Given the description of an element on the screen output the (x, y) to click on. 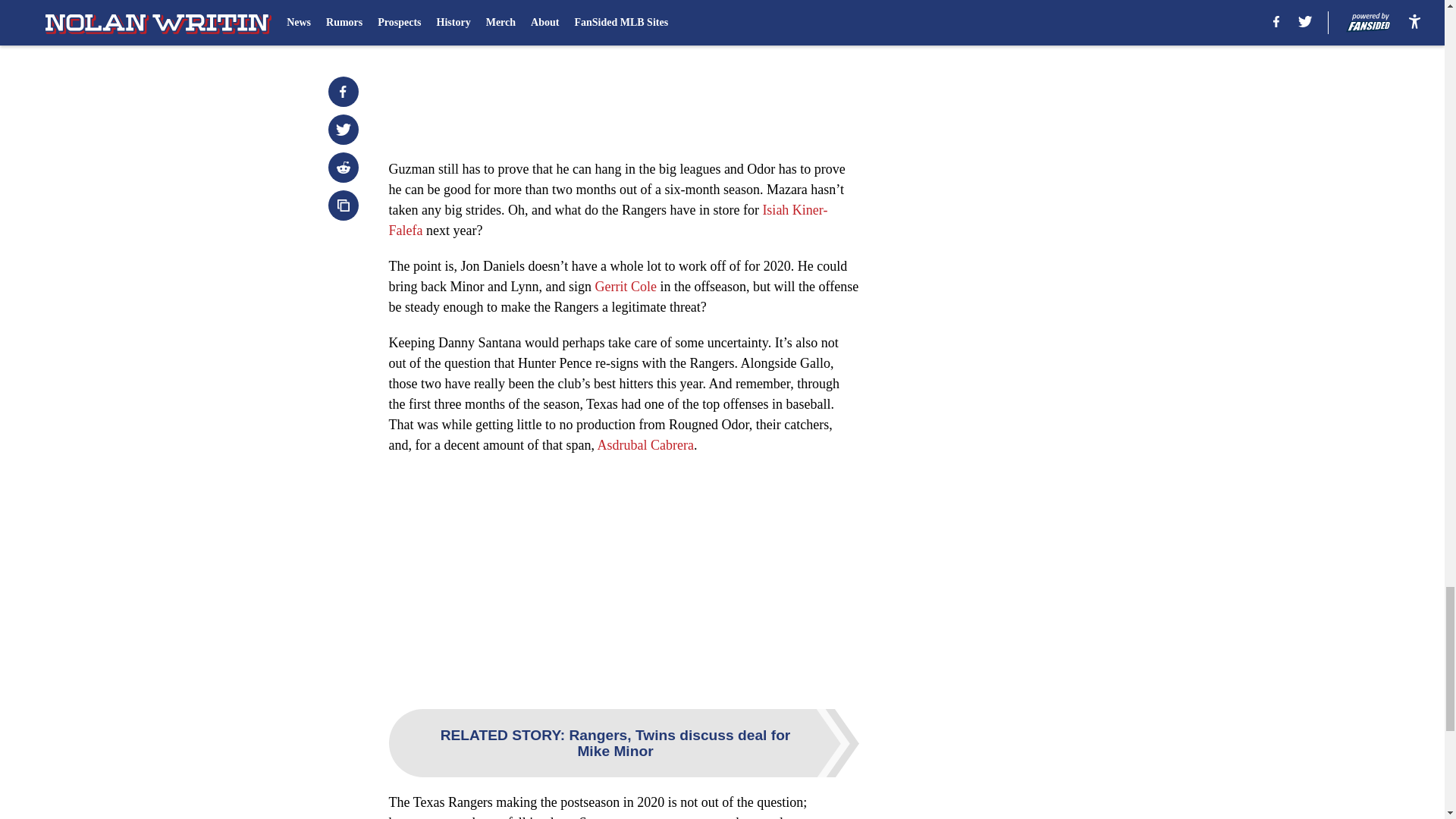
Isiah Kiner-Falefa (607, 220)
RELATED STORY: Rangers, Twins discuss deal for Mike Minor (623, 743)
Gerrit Cole (625, 286)
Asdrubal Cabrera (644, 444)
